Given the description of an element on the screen output the (x, y) to click on. 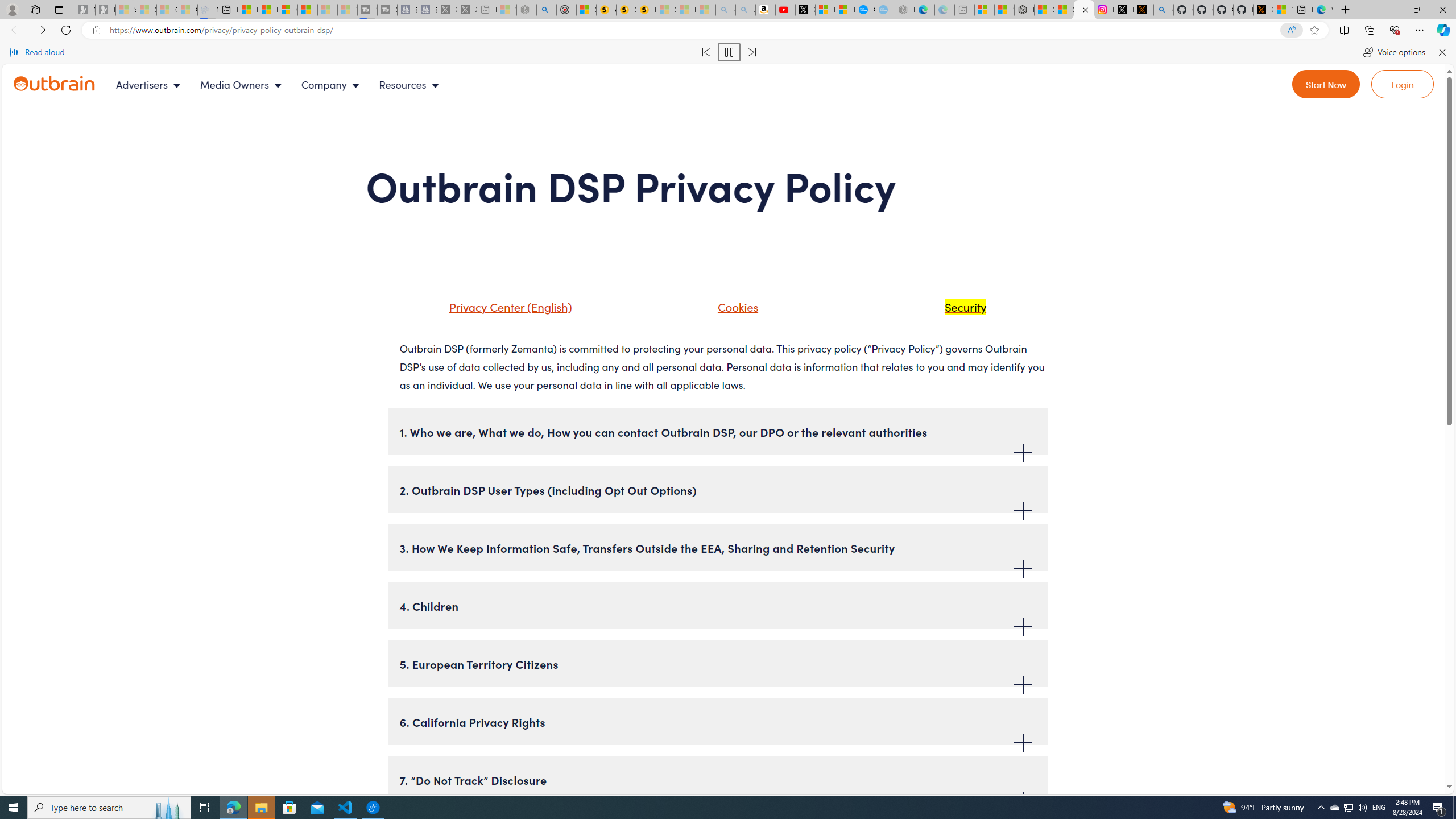
poe - Search (546, 9)
5. European Territory Citizens (717, 663)
Cookies (723, 311)
Advertisers (151, 84)
Nordace - Summer Adventures 2024 - Sleeping (526, 9)
